Given the description of an element on the screen output the (x, y) to click on. 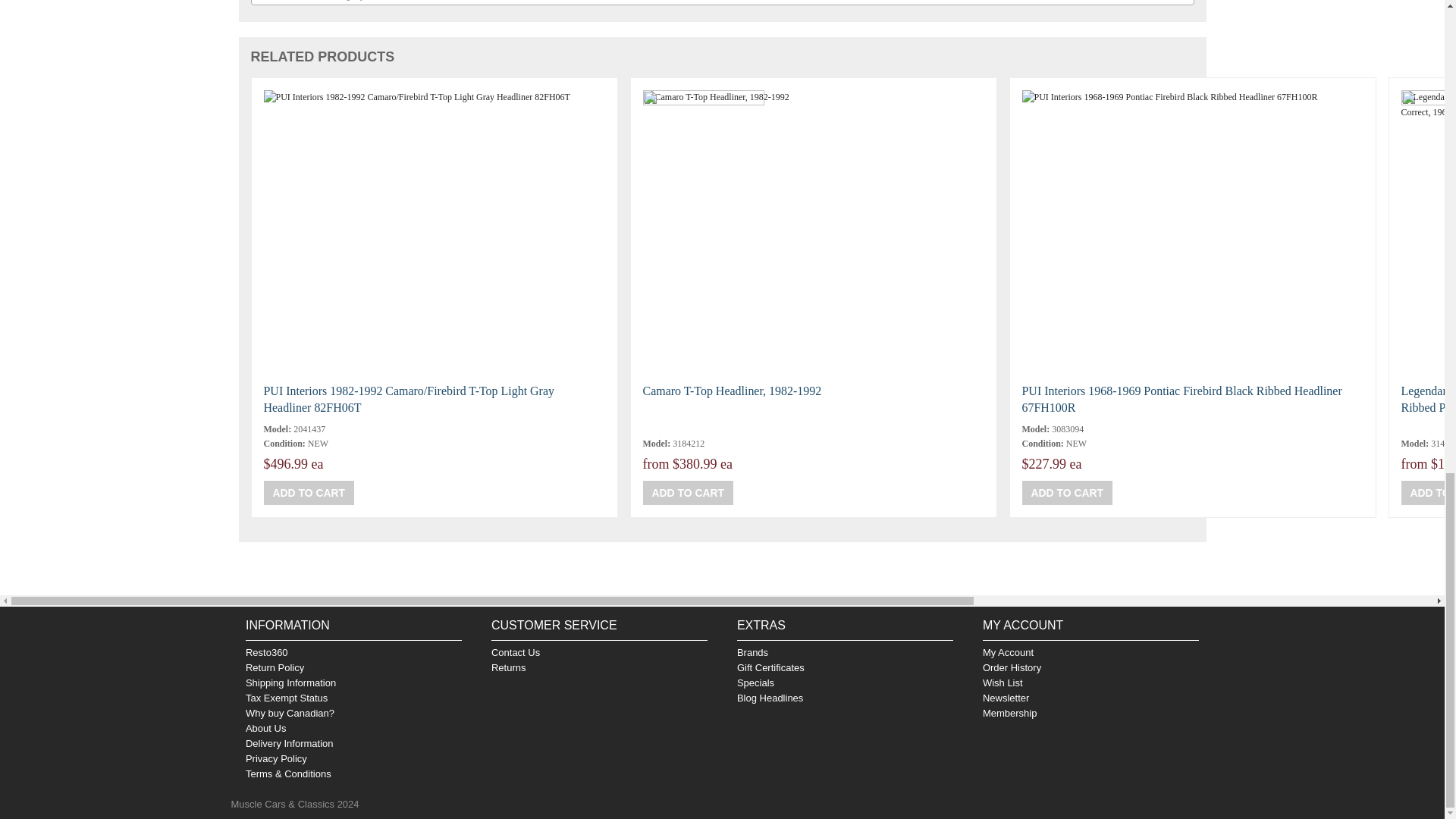
Add to Cart (688, 492)
Add to Cart (309, 492)
Add to Cart (1067, 492)
